Given the description of an element on the screen output the (x, y) to click on. 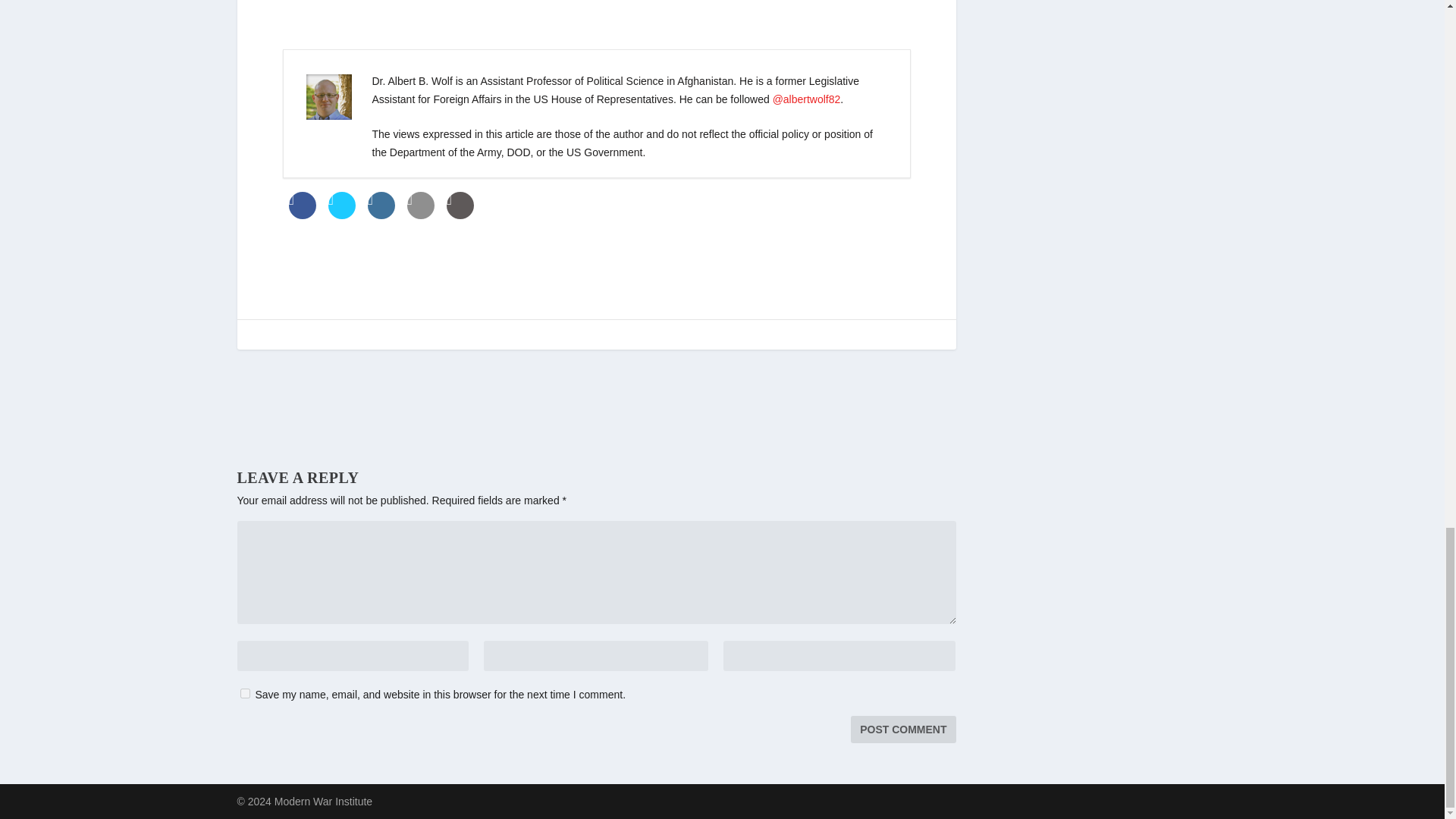
Post Comment (902, 728)
yes (244, 693)
Share on Facebook (301, 214)
Print (459, 214)
Share it on Email (419, 214)
Share on Twitter (341, 214)
Share on LinkedIn (380, 214)
